Given the description of an element on the screen output the (x, y) to click on. 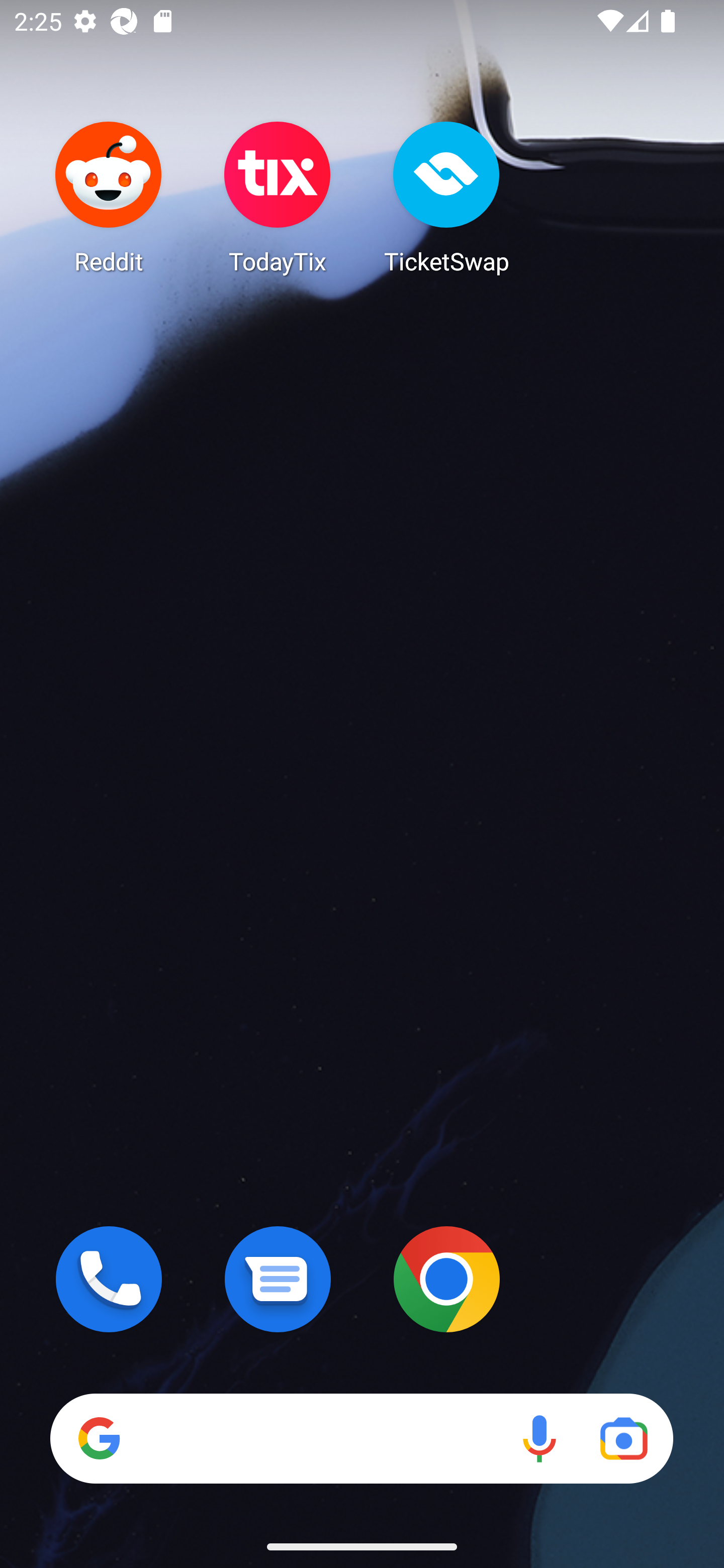
Reddit (108, 196)
TodayTix (277, 196)
TicketSwap (445, 196)
Phone (108, 1279)
Messages (277, 1279)
Chrome (446, 1279)
Voice search (539, 1438)
Google Lens (623, 1438)
